Given the description of an element on the screen output the (x, y) to click on. 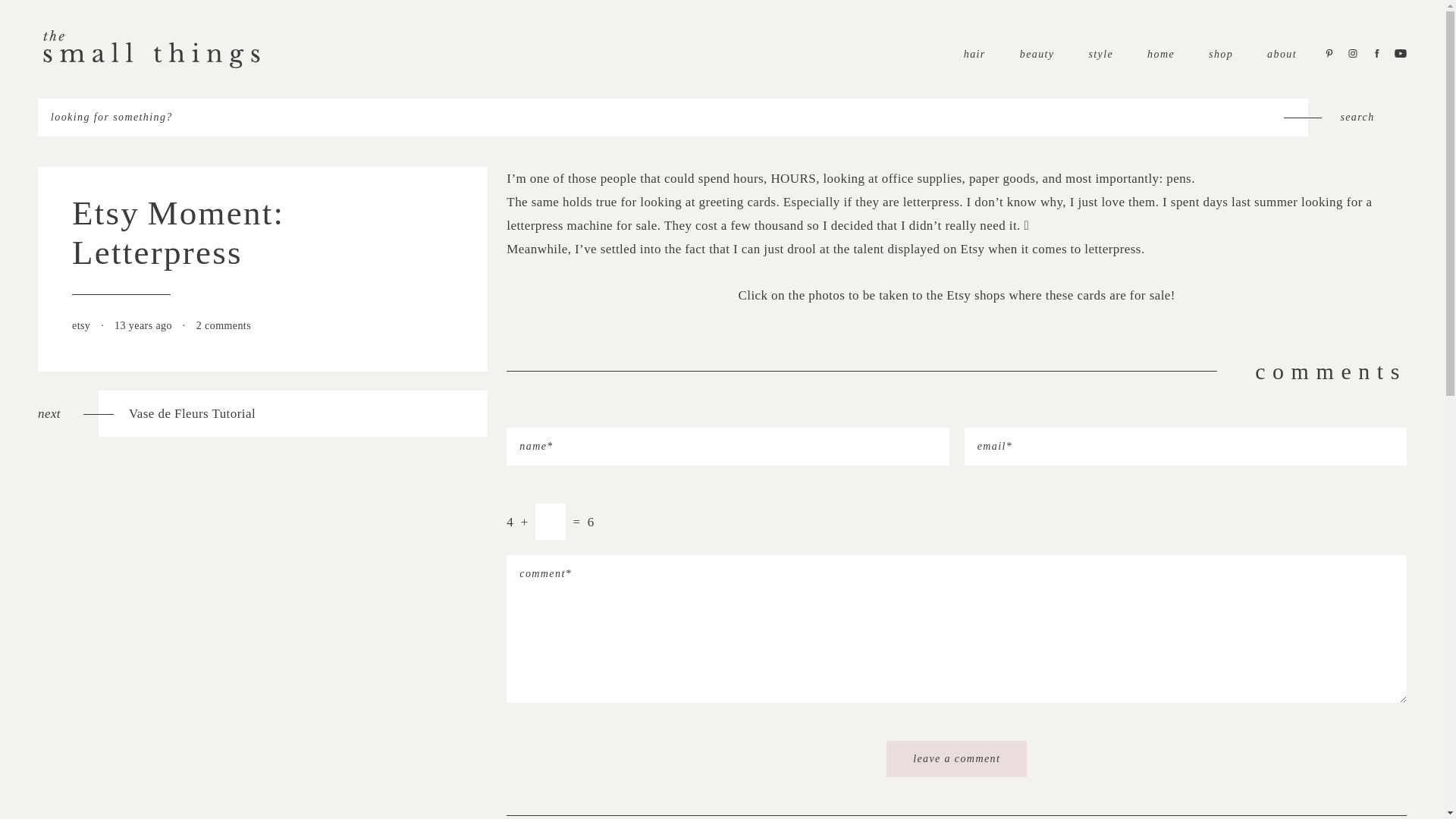
home (1160, 53)
shop (1220, 53)
search (1356, 117)
etsy (82, 325)
beauty (1037, 53)
leave a comment (956, 759)
about (1281, 53)
style (1100, 53)
search (262, 413)
